Given the description of an element on the screen output the (x, y) to click on. 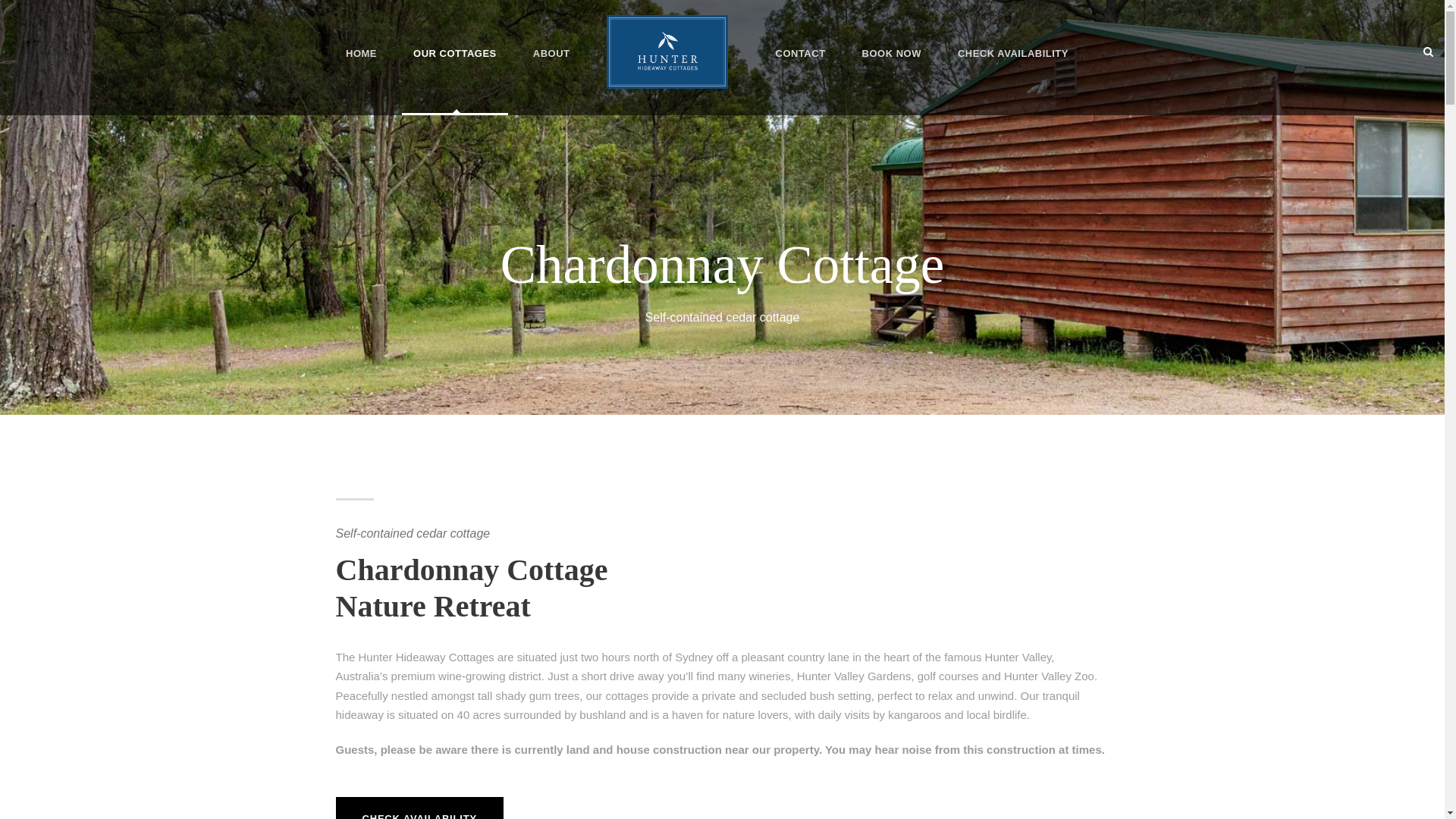
ABOUT Element type: text (551, 65)
Hunter-Hideaway-Cottages-rect-logo-03 Element type: hover (667, 51)
CHECK AVAILABILITY Element type: text (1012, 65)
CONTACT Element type: text (800, 65)
OUR COTTAGES Element type: text (454, 65)
HOME Element type: text (360, 65)
BOOK NOW Element type: text (891, 65)
